Given the description of an element on the screen output the (x, y) to click on. 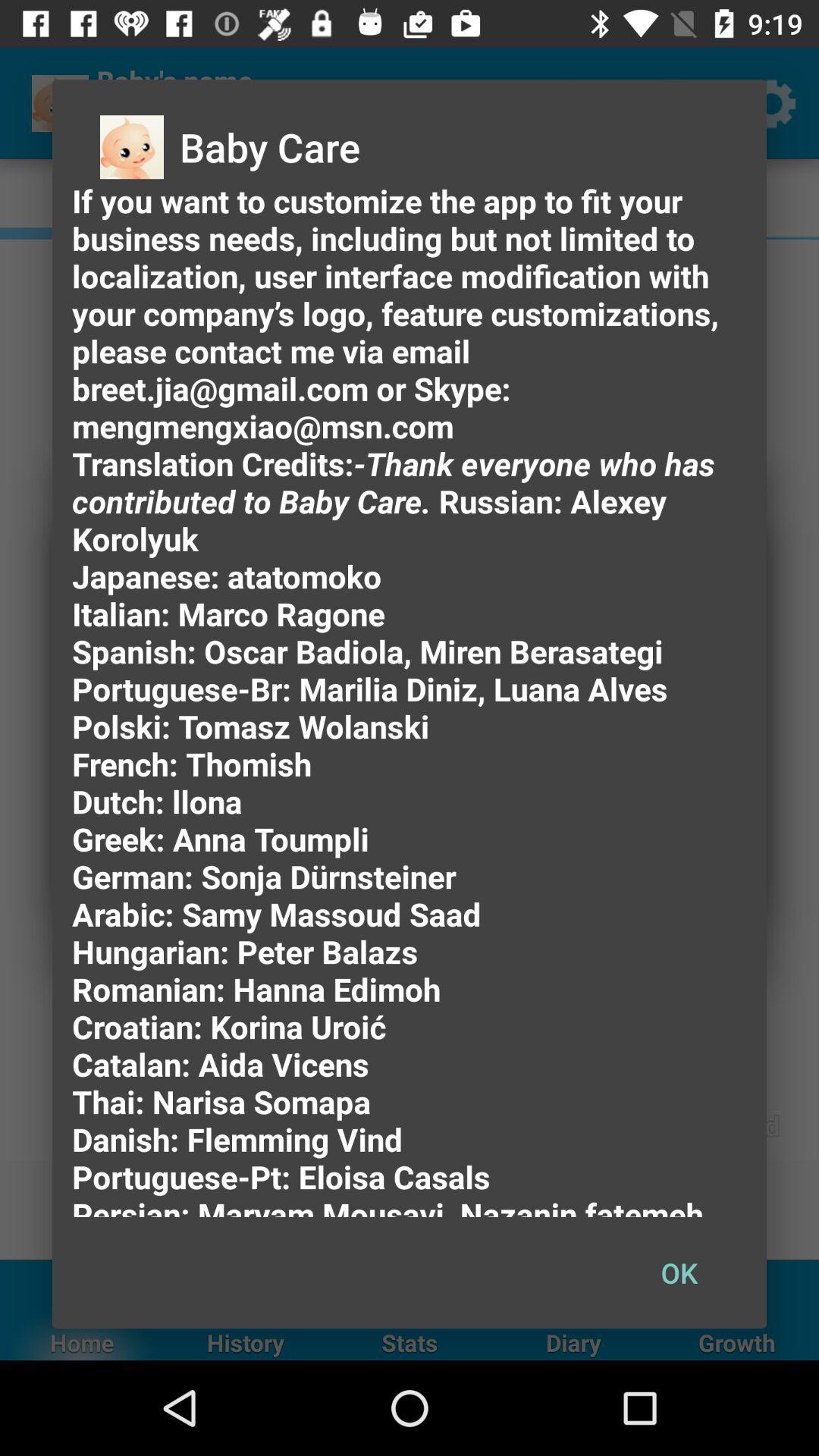
jump until ok (678, 1272)
